Given the description of an element on the screen output the (x, y) to click on. 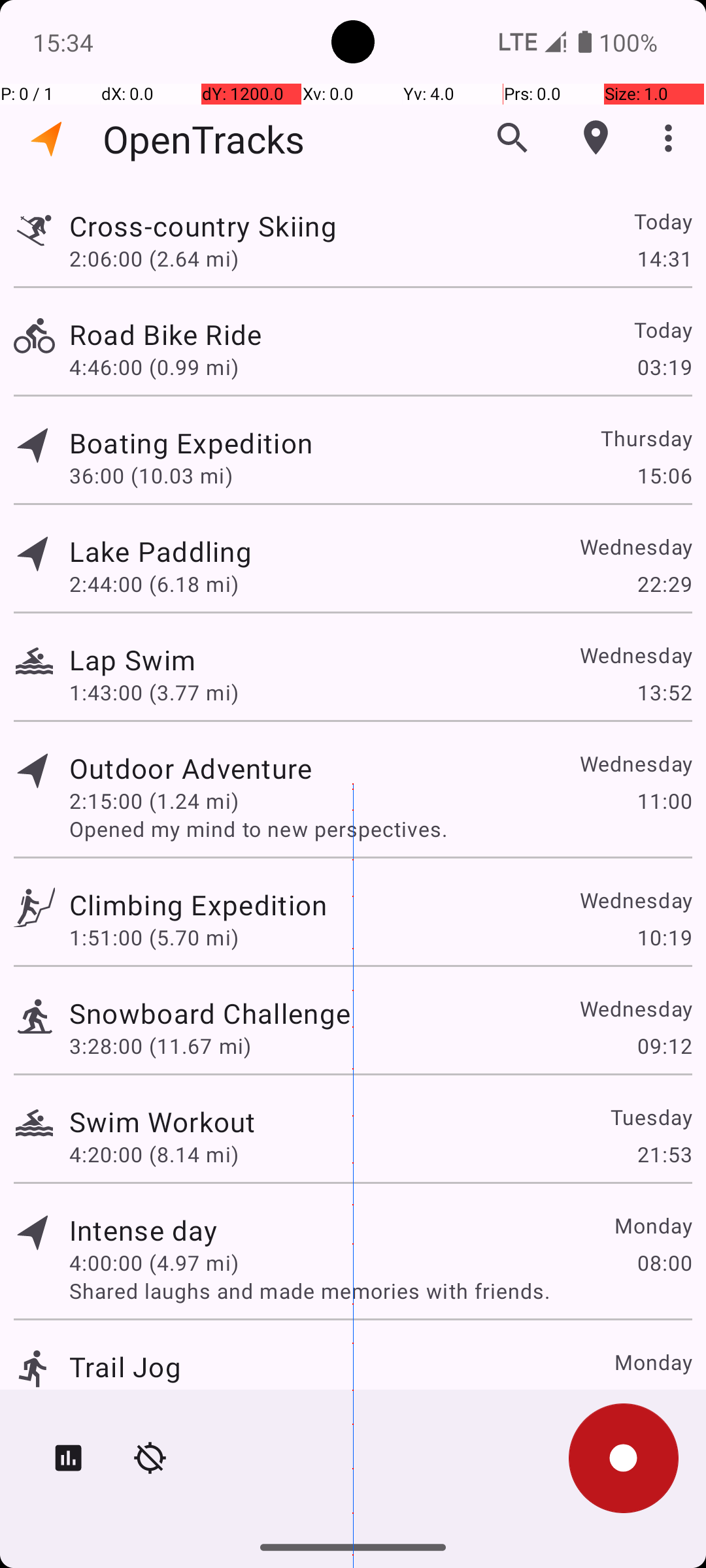
Cross-country Skiing Element type: android.widget.TextView (202, 225)
2:06:00 (2.64 mi) Element type: android.widget.TextView (153, 258)
14:31 Element type: android.widget.TextView (664, 258)
Road Bike Ride Element type: android.widget.TextView (165, 333)
4:46:00 (0.99 mi) Element type: android.widget.TextView (153, 366)
03:19 Element type: android.widget.TextView (664, 366)
Boating Expedition Element type: android.widget.TextView (190, 442)
36:00 (10.03 mi) Element type: android.widget.TextView (150, 475)
15:06 Element type: android.widget.TextView (664, 475)
Lake Paddling Element type: android.widget.TextView (160, 550)
2:44:00 (6.18 mi) Element type: android.widget.TextView (153, 583)
22:29 Element type: android.widget.TextView (664, 583)
Lap Swim Element type: android.widget.TextView (132, 659)
1:43:00 (3.77 mi) Element type: android.widget.TextView (153, 692)
13:52 Element type: android.widget.TextView (664, 692)
Outdoor Adventure Element type: android.widget.TextView (190, 767)
2:15:00 (1.24 mi) Element type: android.widget.TextView (153, 800)
Opened my mind to new perspectives. Element type: android.widget.TextView (380, 828)
Climbing Expedition Element type: android.widget.TextView (197, 904)
1:51:00 (5.70 mi) Element type: android.widget.TextView (153, 937)
10:19 Element type: android.widget.TextView (664, 937)
Snowboard Challenge Element type: android.widget.TextView (209, 1012)
3:28:00 (11.67 mi) Element type: android.widget.TextView (159, 1045)
09:12 Element type: android.widget.TextView (664, 1045)
Swim Workout Element type: android.widget.TextView (162, 1121)
4:20:00 (8.14 mi) Element type: android.widget.TextView (153, 1154)
21:53 Element type: android.widget.TextView (664, 1154)
Intense day Element type: android.widget.TextView (143, 1229)
4:00:00 (4.97 mi) Element type: android.widget.TextView (153, 1262)
Shared laughs and made memories with friends. Element type: android.widget.TextView (380, 1290)
Trail Jog Element type: android.widget.TextView (124, 1366)
1:15:00 (4.15 mi) Element type: android.widget.TextView (153, 1399)
03:24 Element type: android.widget.TextView (664, 1399)
